Given the description of an element on the screen output the (x, y) to click on. 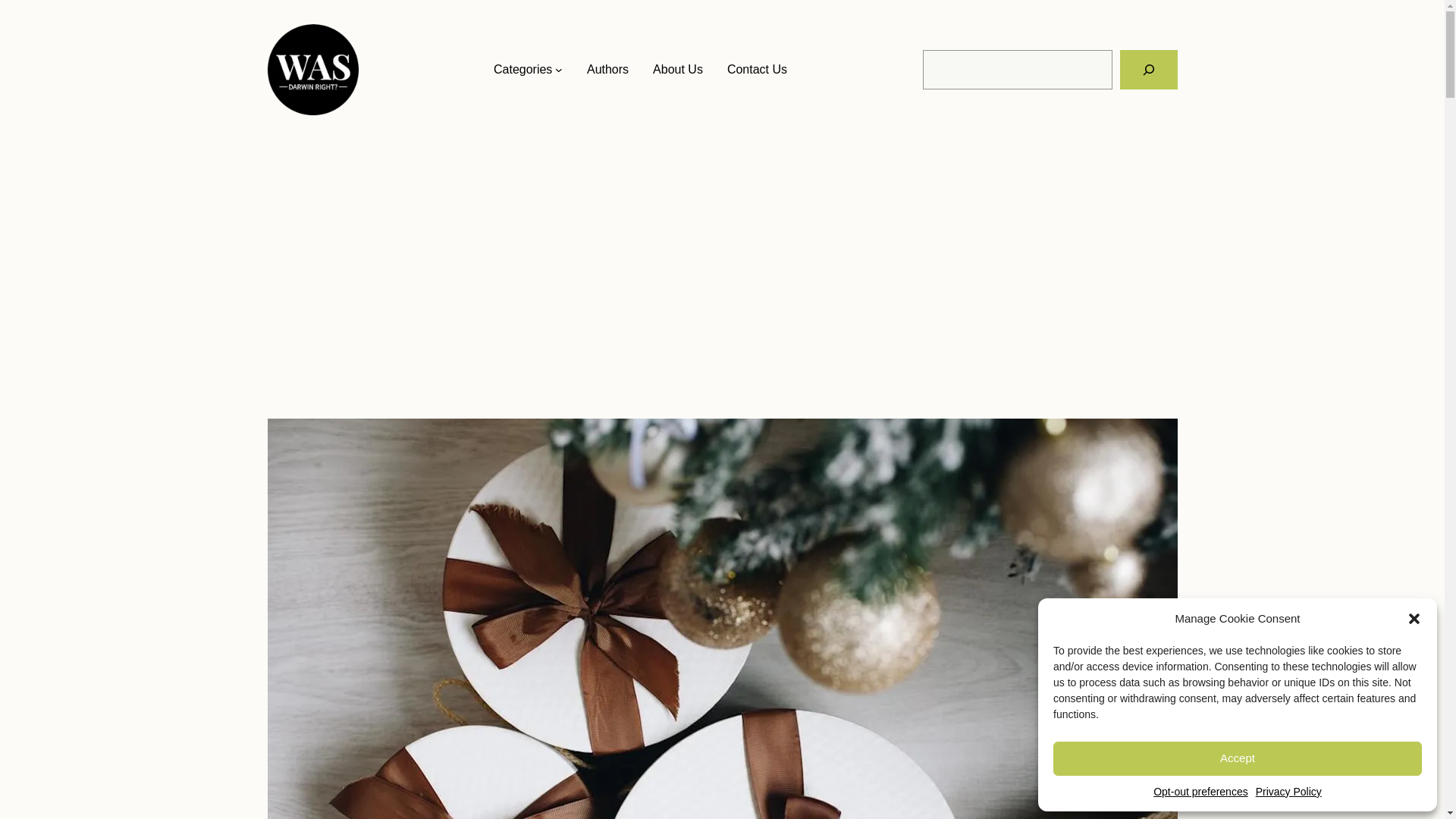
Contact Us (756, 69)
About Us (677, 69)
Accept (1237, 758)
Privacy Policy (1288, 791)
Opt-out preferences (1200, 791)
Categories (522, 69)
Authors (607, 69)
